Given the description of an element on the screen output the (x, y) to click on. 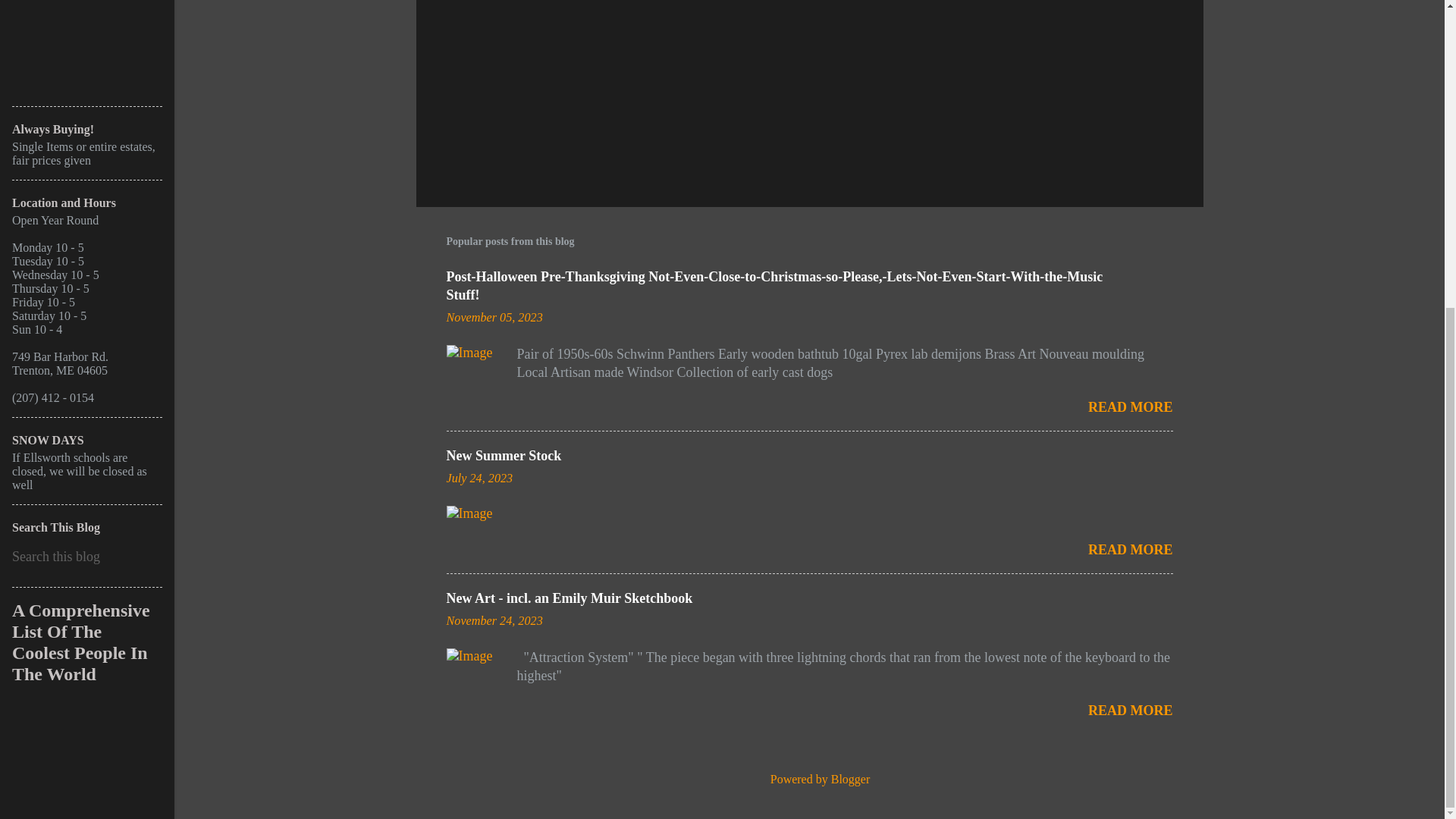
July 24, 2023 (478, 478)
READ MORE (1130, 549)
New Summer Stock (502, 455)
READ MORE (1130, 710)
permanent link (493, 317)
November 05, 2023 (493, 317)
New Art - incl. an Emily Muir Sketchbook (569, 598)
November 24, 2023 (493, 621)
READ MORE (1130, 406)
Powered by Blogger (809, 779)
